Given the description of an element on the screen output the (x, y) to click on. 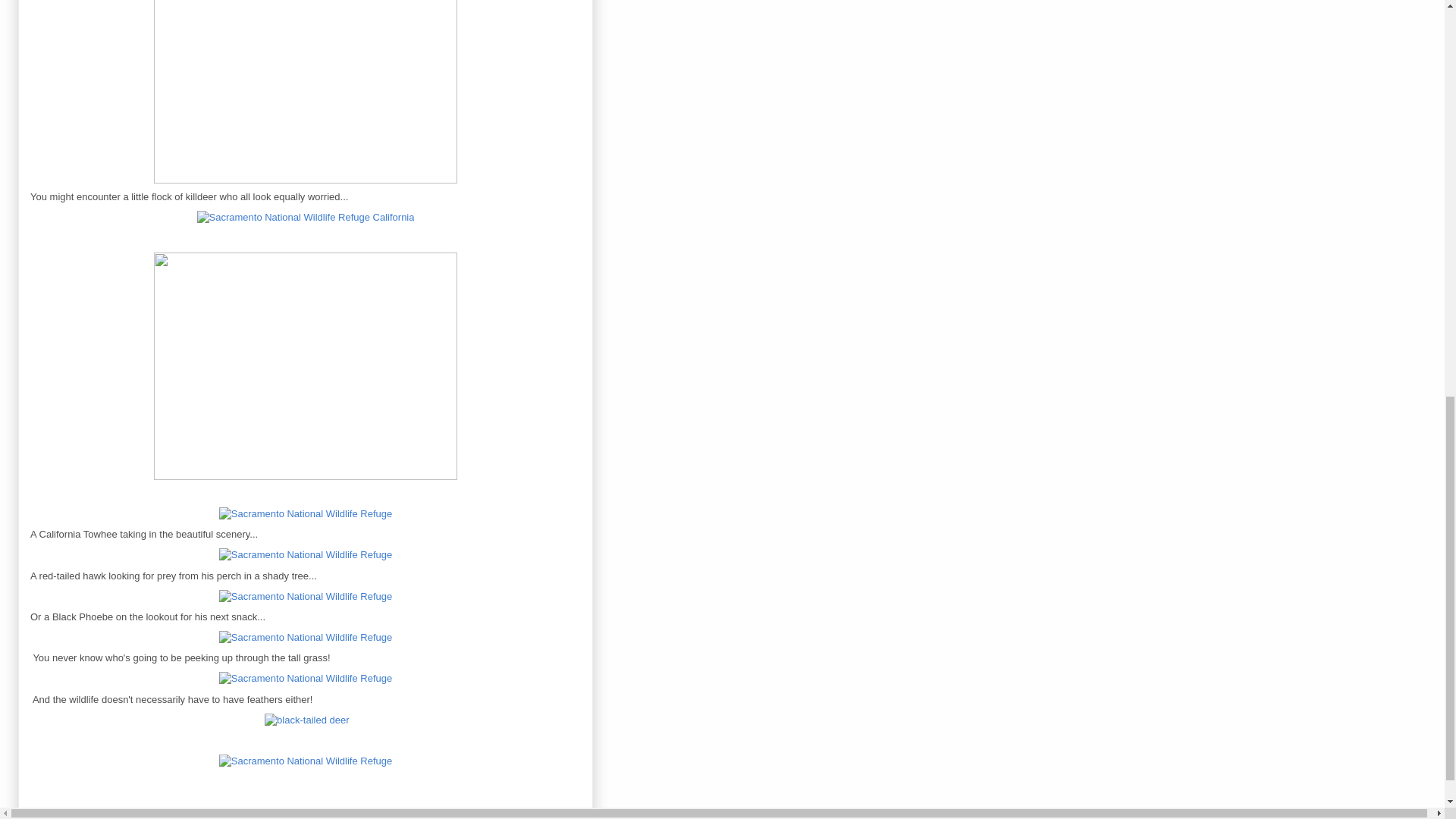
California Towhee (305, 554)
killdeer (305, 513)
black-tailed deer (305, 760)
Sacramento National Wildlife Refuge (305, 365)
Sacramento National Wildlife Refuge (305, 95)
killdeer (306, 216)
red-tailed hawk (305, 596)
great blue heron (305, 678)
black phoebe (305, 637)
Sacramento National Wildlife Refuge (306, 719)
